Given the description of an element on the screen output the (x, y) to click on. 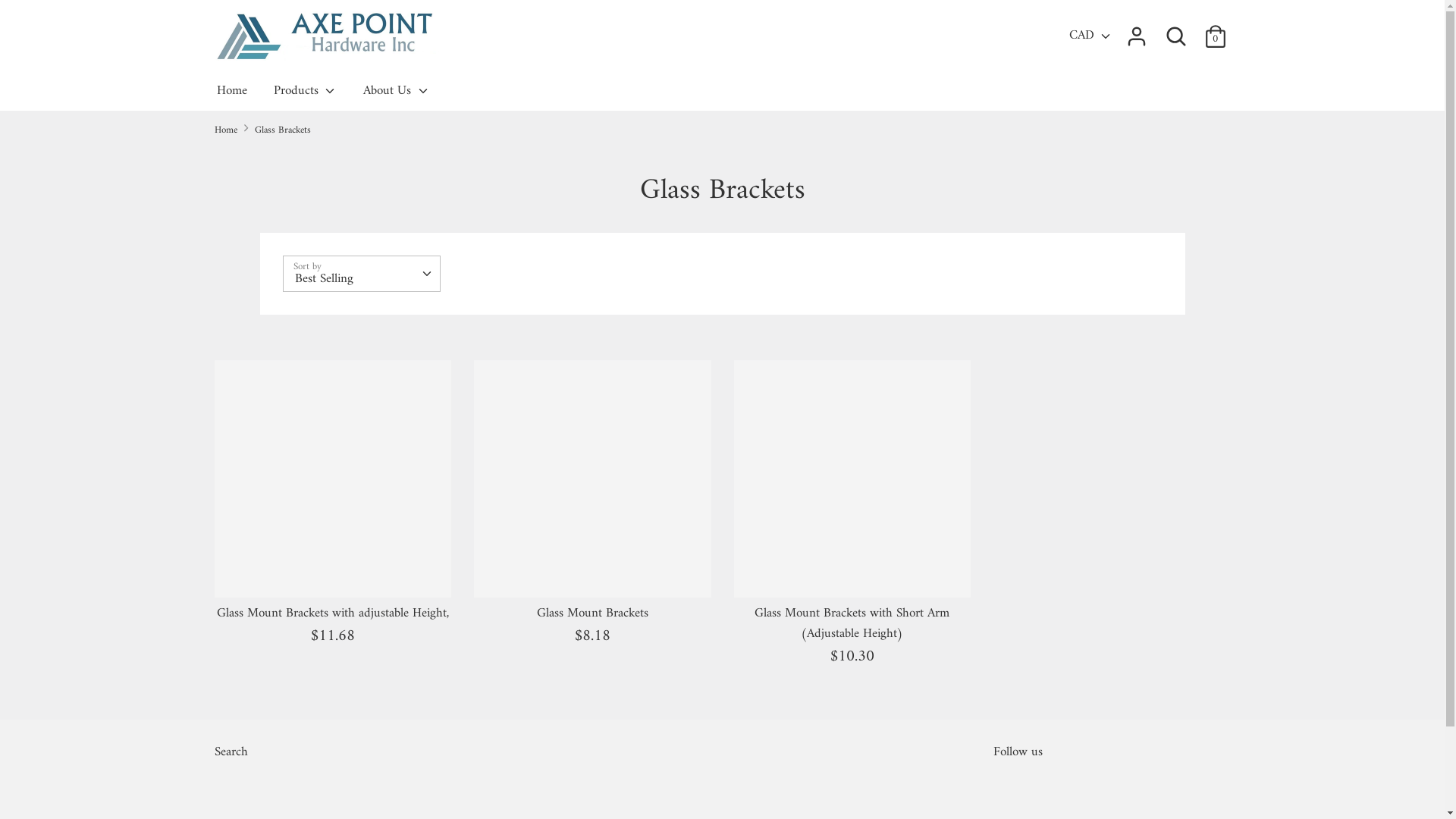
Search Element type: text (237, 753)
Products Element type: text (305, 95)
Home Element type: text (230, 95)
Glass Mount Brackets with adjustable Height, Element type: text (332, 613)
Glass Brackets Element type: text (282, 130)
Glass Mount Brackets Element type: text (592, 613)
Search Element type: text (1175, 36)
0 Element type: text (1214, 30)
Glass Mount Brackets with Short Arm (Adjustable Height) Element type: text (851, 623)
About Us Element type: text (396, 95)
Home Element type: text (224, 130)
